Given the description of an element on the screen output the (x, y) to click on. 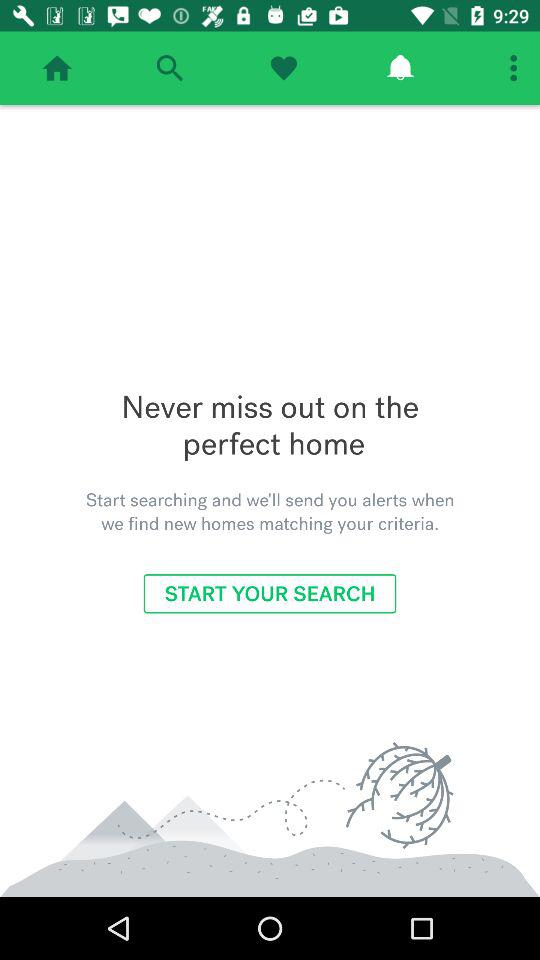
go to home page (57, 68)
